Given the description of an element on the screen output the (x, y) to click on. 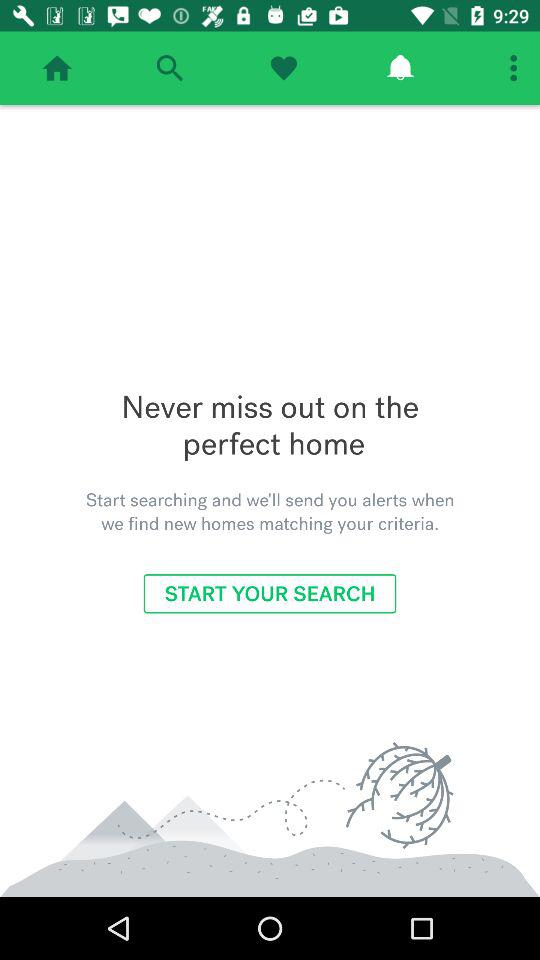
go to home page (57, 68)
